Given the description of an element on the screen output the (x, y) to click on. 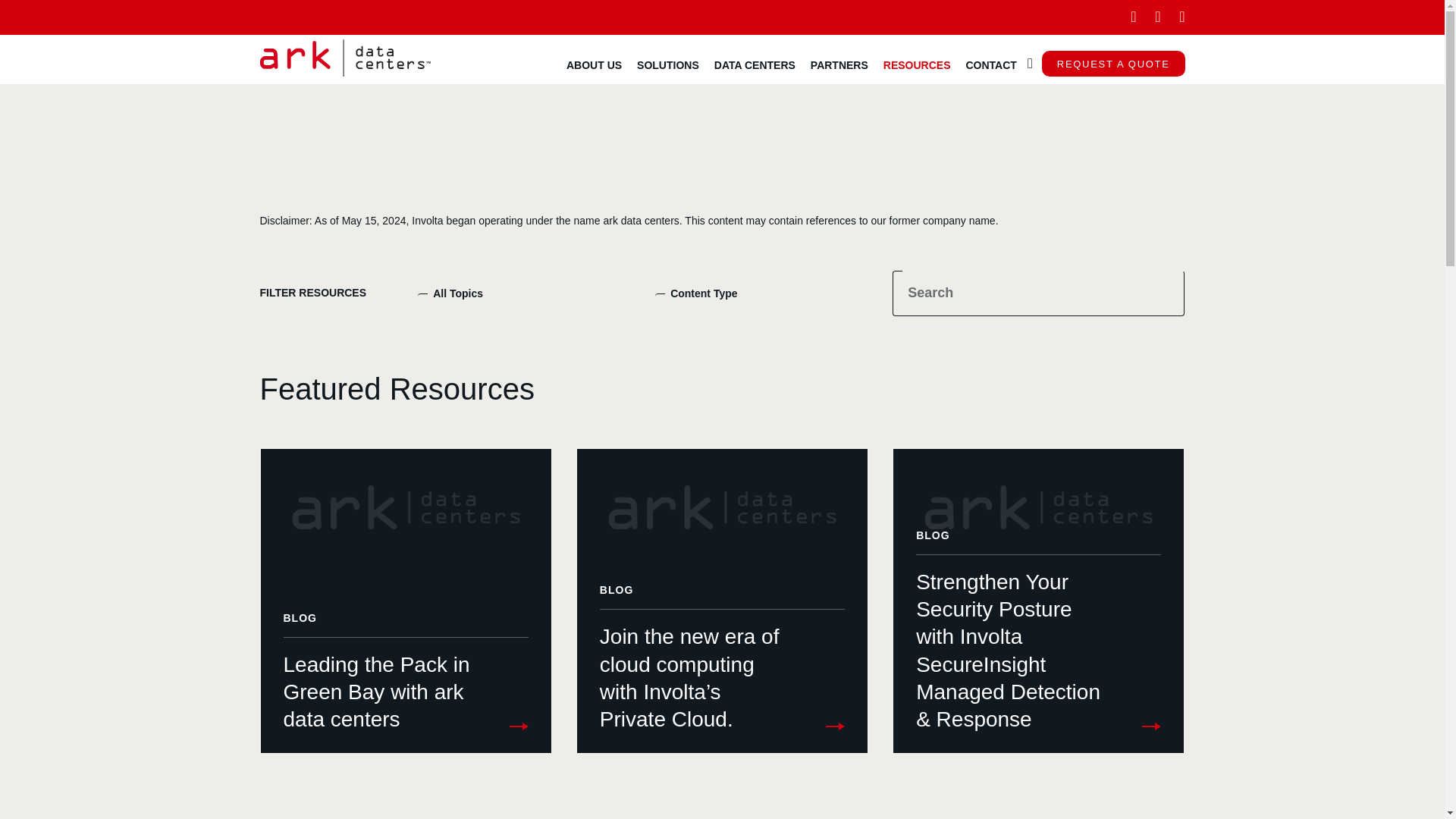
DATA CENTERS (754, 64)
SOLUTIONS (667, 64)
ABOUT US (593, 64)
PARTNERS (839, 64)
